Given the description of an element on the screen output the (x, y) to click on. 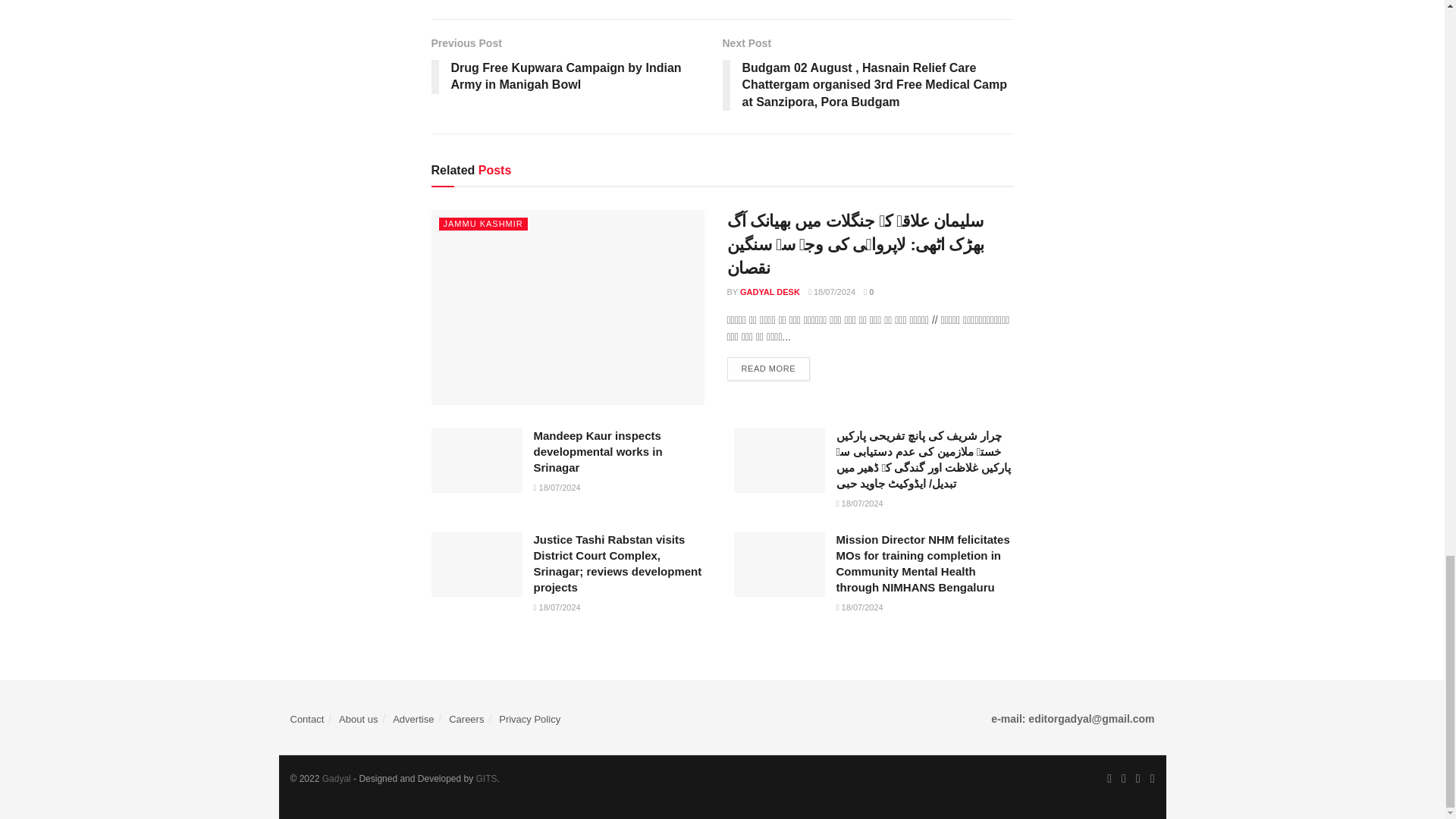
Gabfire IT Solutions (486, 778)
Daily Gadyal (335, 778)
